Given the description of an element on the screen output the (x, y) to click on. 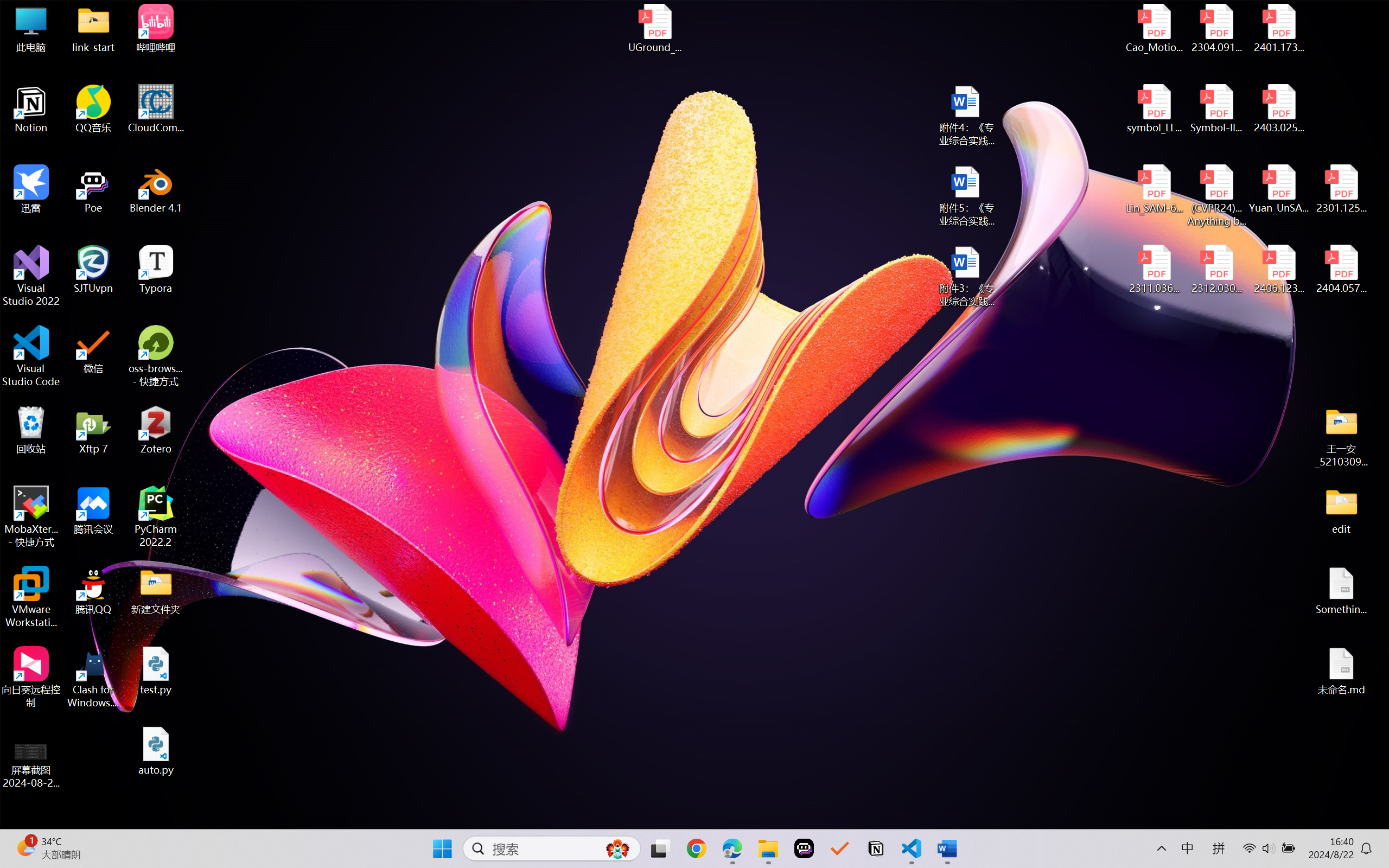
2311.03658v2.pdf (1154, 269)
test.py (156, 670)
auto.py (156, 751)
Notion (875, 848)
SJTUvpn (93, 269)
2301.12597v3.pdf (1340, 189)
2312.03032v2.pdf (1216, 269)
(CVPR24)Matching Anything by Segmenting Anything.pdf (1216, 195)
